Given the description of an element on the screen output the (x, y) to click on. 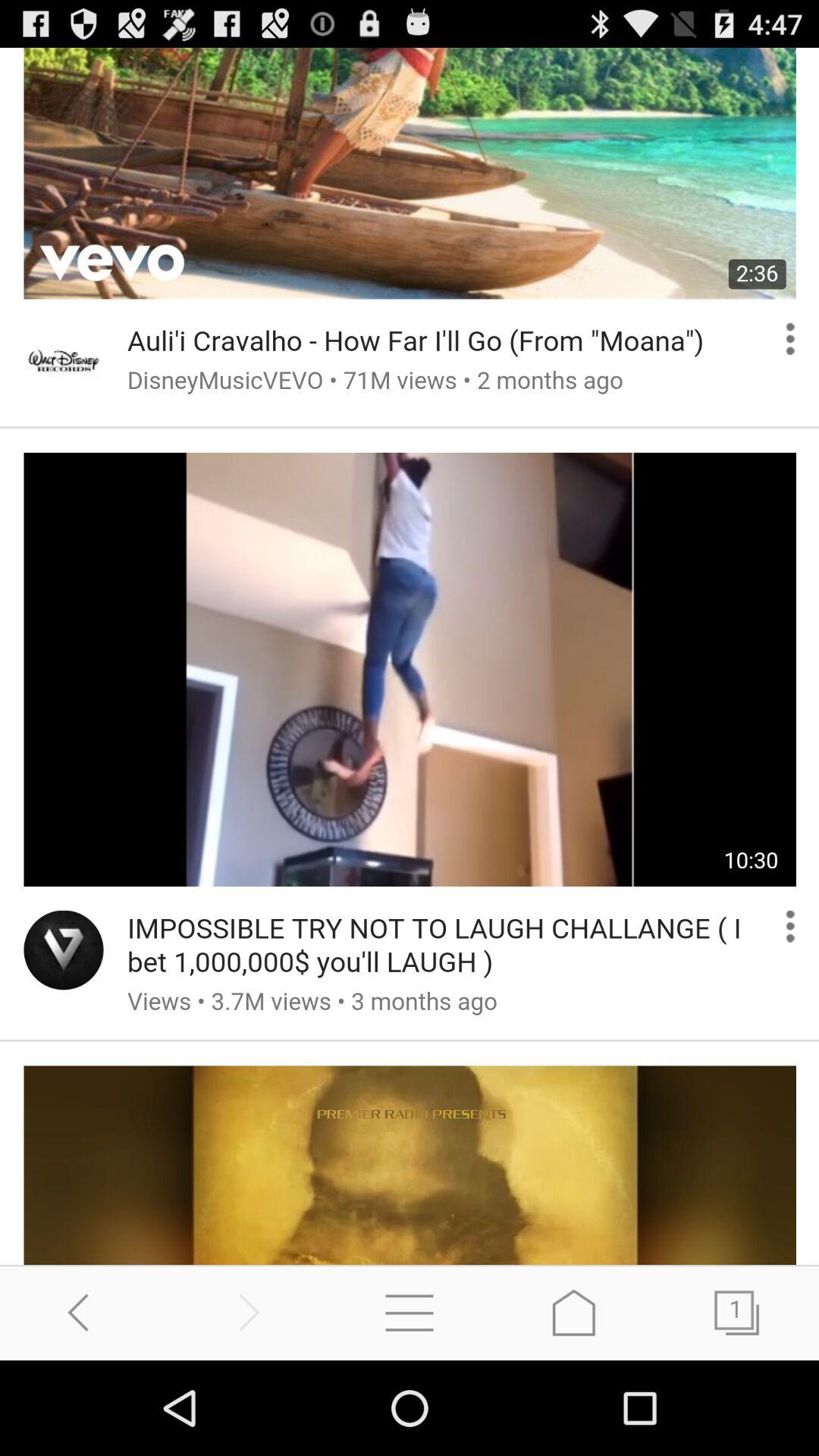
go forward (245, 1312)
